Given the description of an element on the screen output the (x, y) to click on. 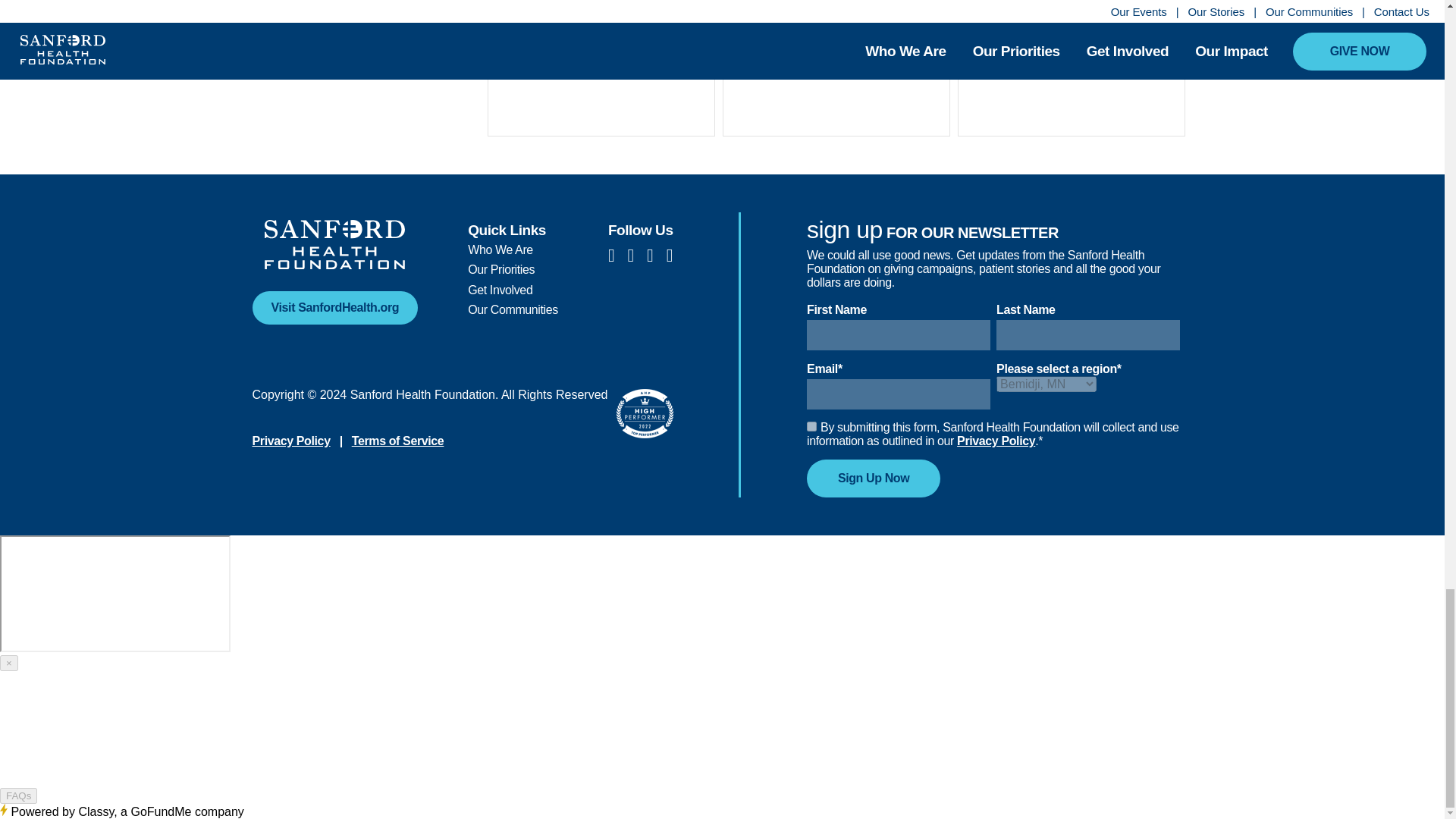
Sign Up Now (873, 478)
true (811, 426)
